Given the description of an element on the screen output the (x, y) to click on. 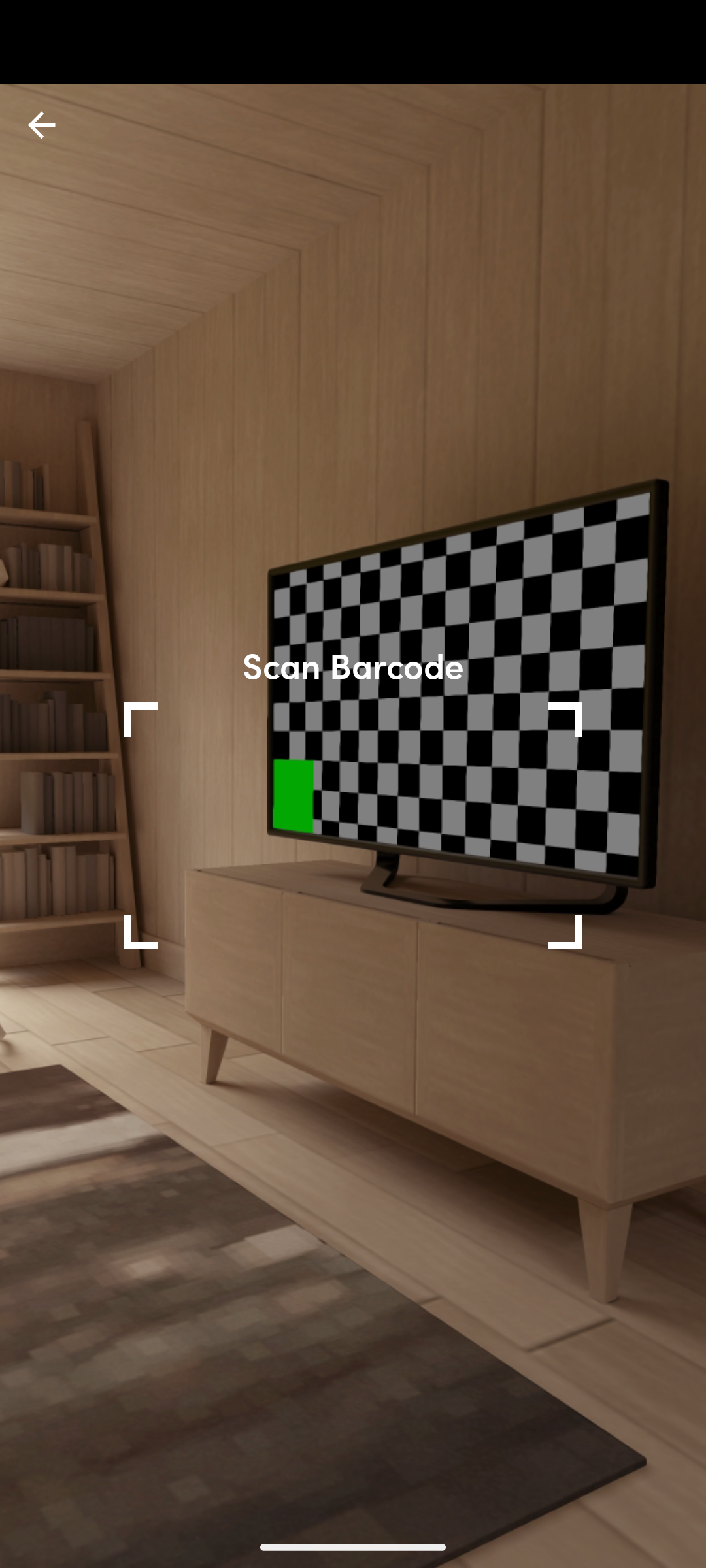
top_left_action (41, 125)
